Given the description of an element on the screen output the (x, y) to click on. 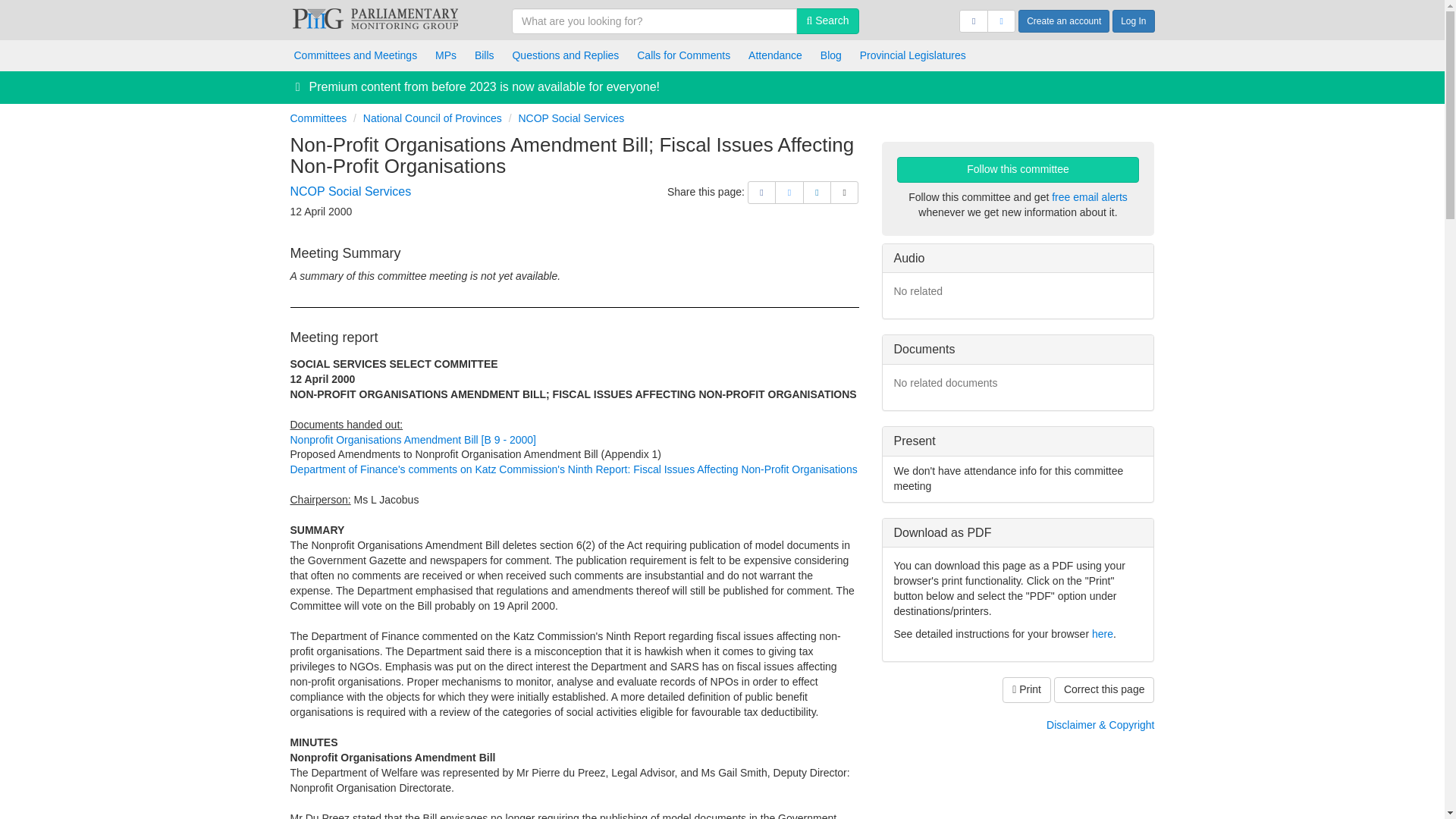
National Council of Provinces (432, 118)
Committees (317, 118)
MPs (446, 55)
Search (827, 21)
NCOP Social Services (349, 191)
Bills (484, 55)
Calls for Comments (683, 55)
Blog (830, 55)
Questions and Replies (564, 55)
